Given the description of an element on the screen output the (x, y) to click on. 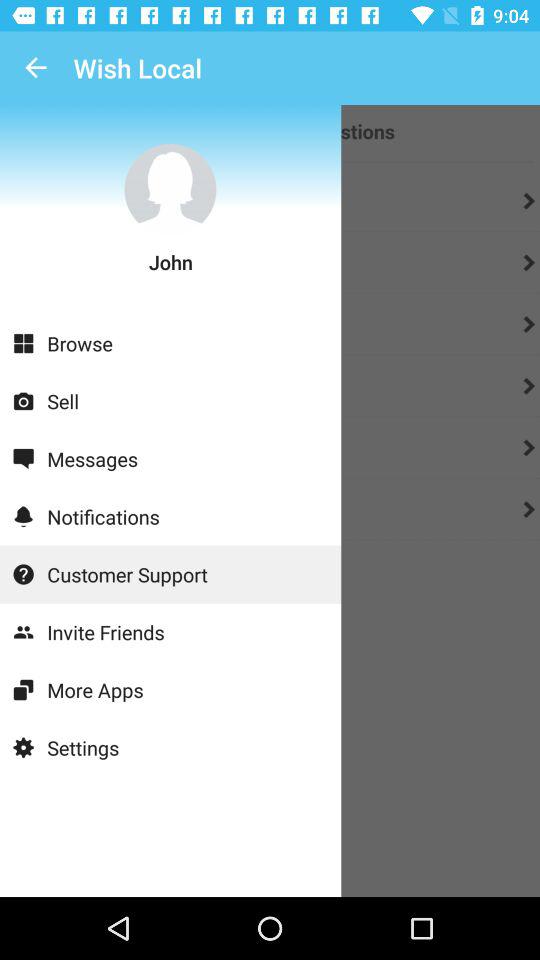
click on messages icon (23, 459)
